Given the description of an element on the screen output the (x, y) to click on. 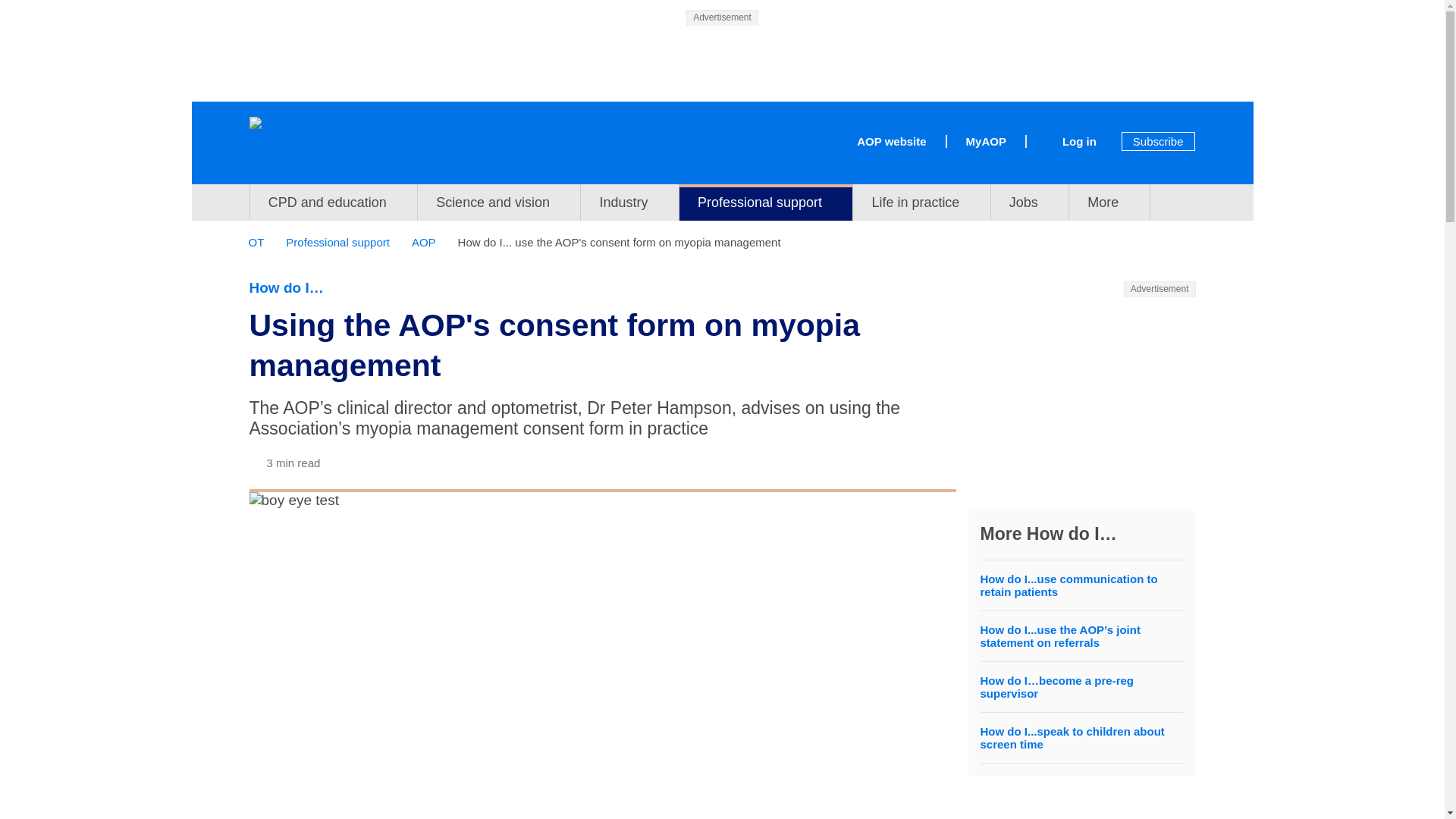
MyAOP (995, 141)
OT (261, 241)
OT (261, 241)
Professional support (342, 241)
AOP website (889, 141)
AOP (429, 241)
Subscribe (1158, 140)
Log in (1080, 141)
